Given the description of an element on the screen output the (x, y) to click on. 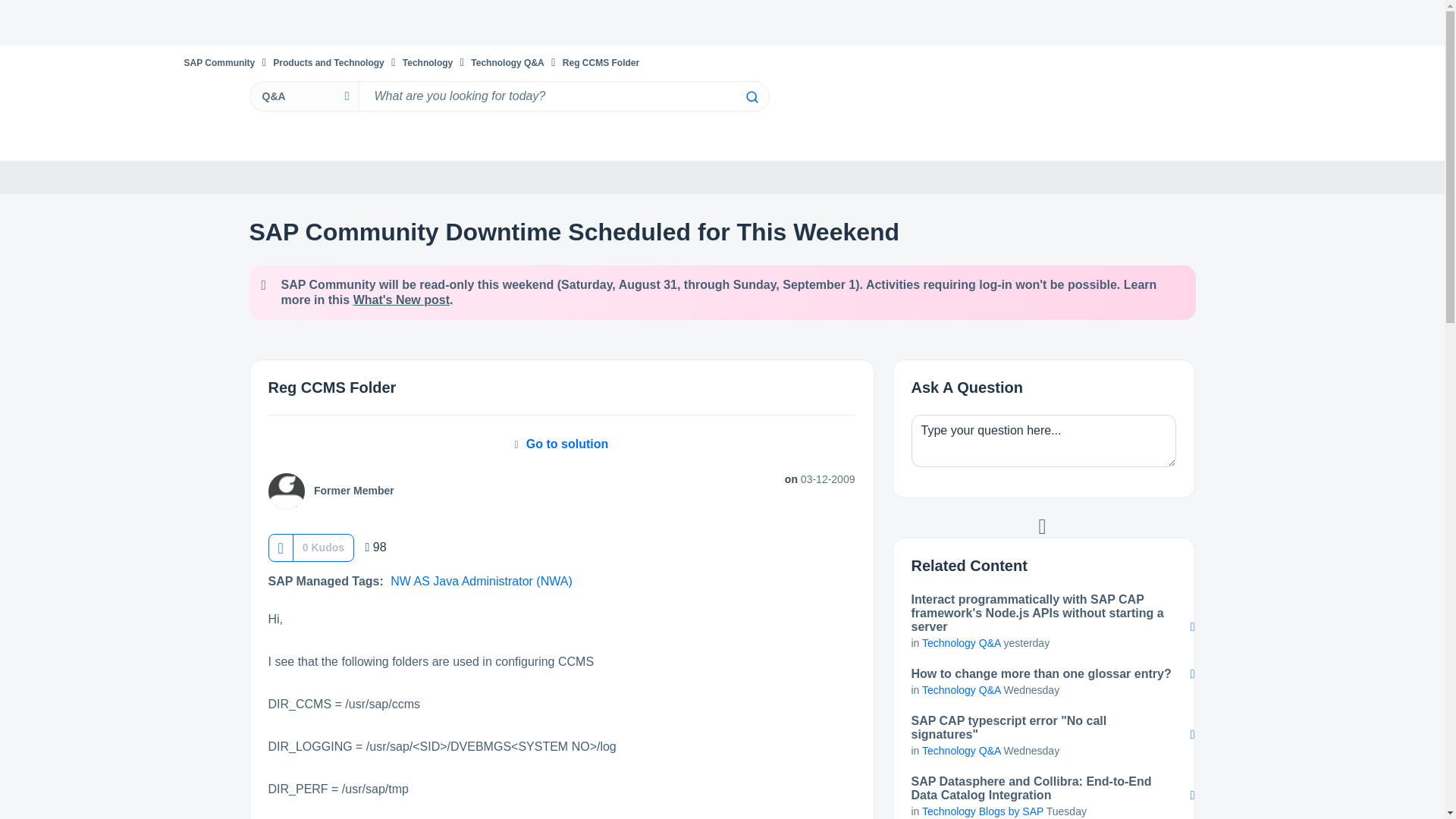
Search (750, 96)
Search Granularity (303, 96)
Search (750, 96)
Products and Technology (328, 62)
Technology (427, 62)
Go to solution (561, 443)
Search (563, 96)
The total number of kudos this post has received. (323, 547)
Click here to give kudos to this post. (279, 547)
SAP Community (218, 62)
